Given the description of an element on the screen output the (x, y) to click on. 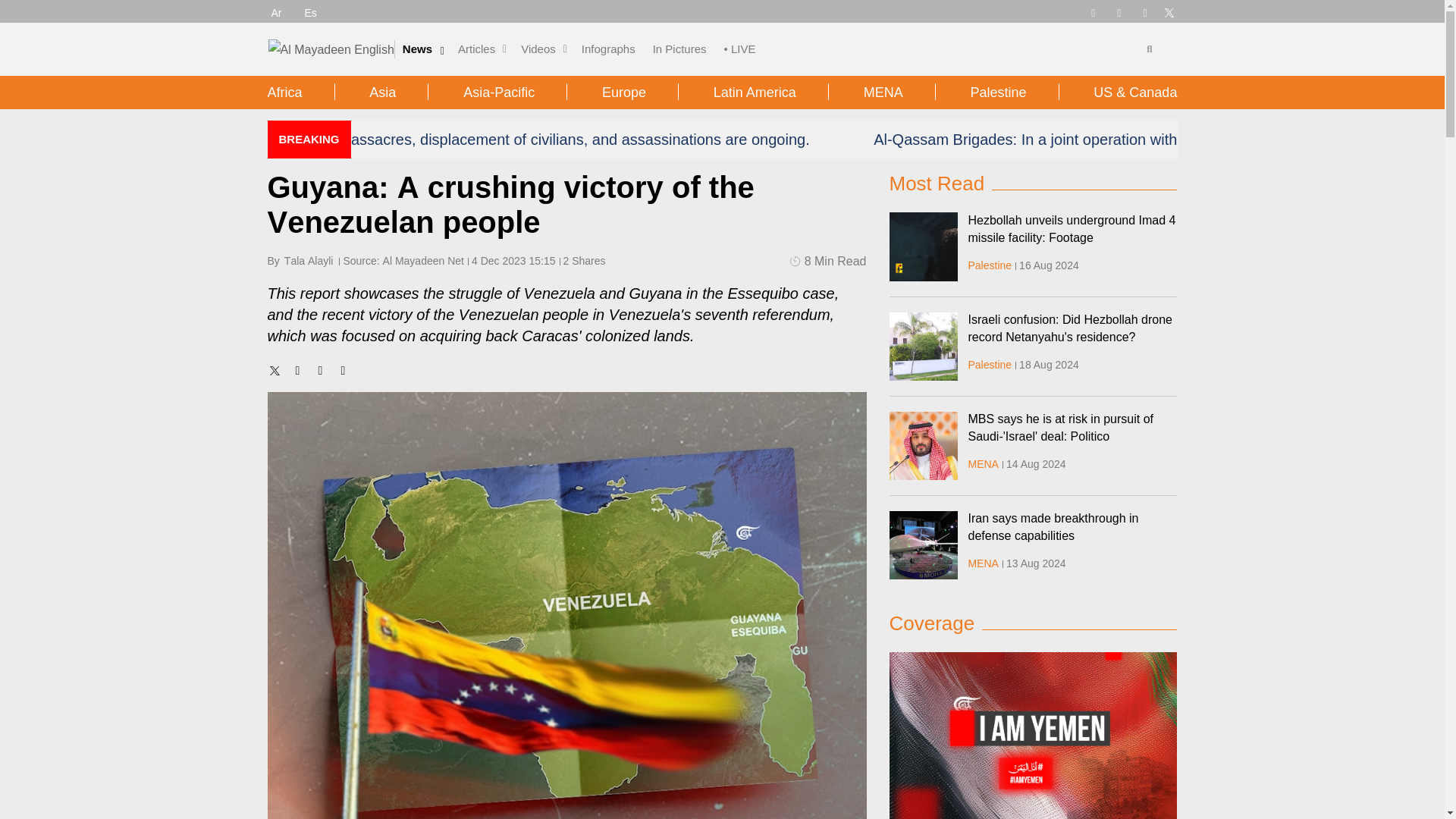
Telegram (1092, 11)
Articles (476, 48)
Facebook (1118, 11)
Palestine (989, 364)
News (417, 48)
Palestine (989, 265)
Es (310, 12)
Infographs (607, 48)
MENA (982, 563)
